Given the description of an element on the screen output the (x, y) to click on. 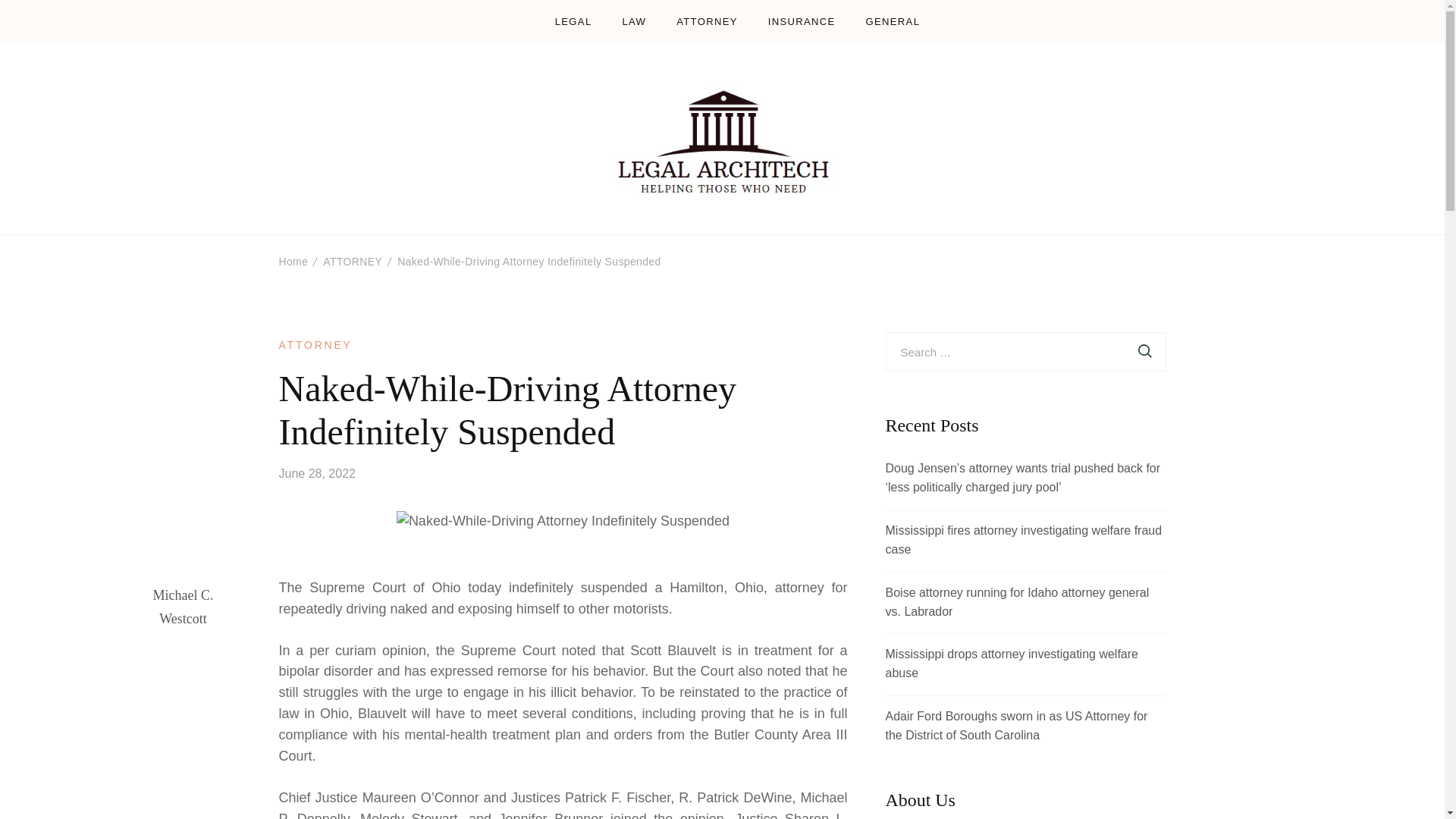
Search (1145, 351)
LEGAL (573, 21)
Home (293, 261)
LAW (633, 21)
Michael C. Westcott (183, 607)
INSURANCE (801, 21)
LEGAL ARCHITECH (681, 218)
GENERAL (893, 21)
Naked-While-Driving Attorney Indefinitely Suspended (562, 521)
Naked-While-Driving Attorney Indefinitely Suspended (529, 261)
ATTORNEY (352, 261)
Search (1145, 351)
ATTORNEY (706, 21)
June 28, 2022 (317, 472)
ATTORNEY (315, 344)
